Given the description of an element on the screen output the (x, y) to click on. 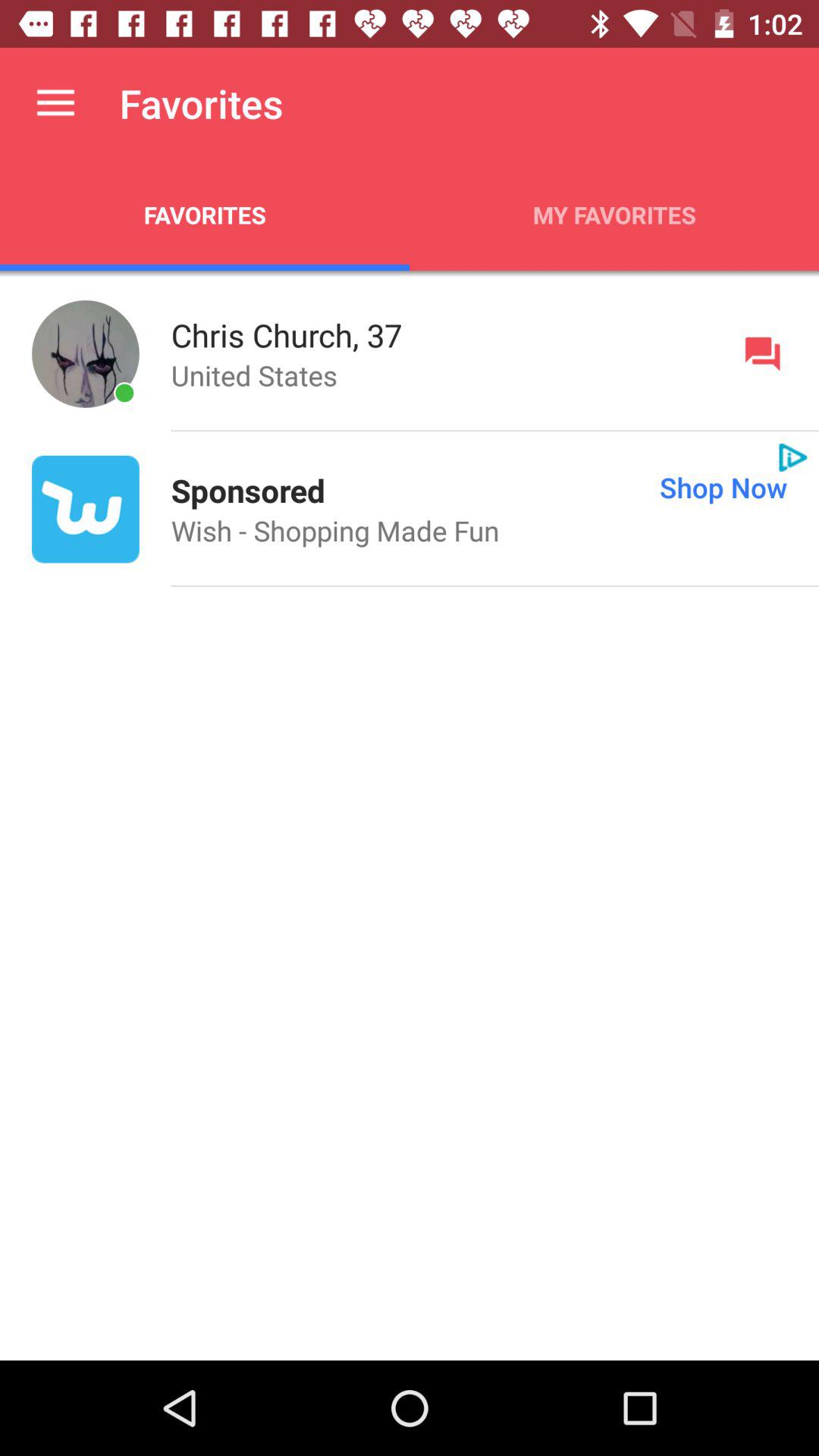
press my favorites (614, 214)
